Given the description of an element on the screen output the (x, y) to click on. 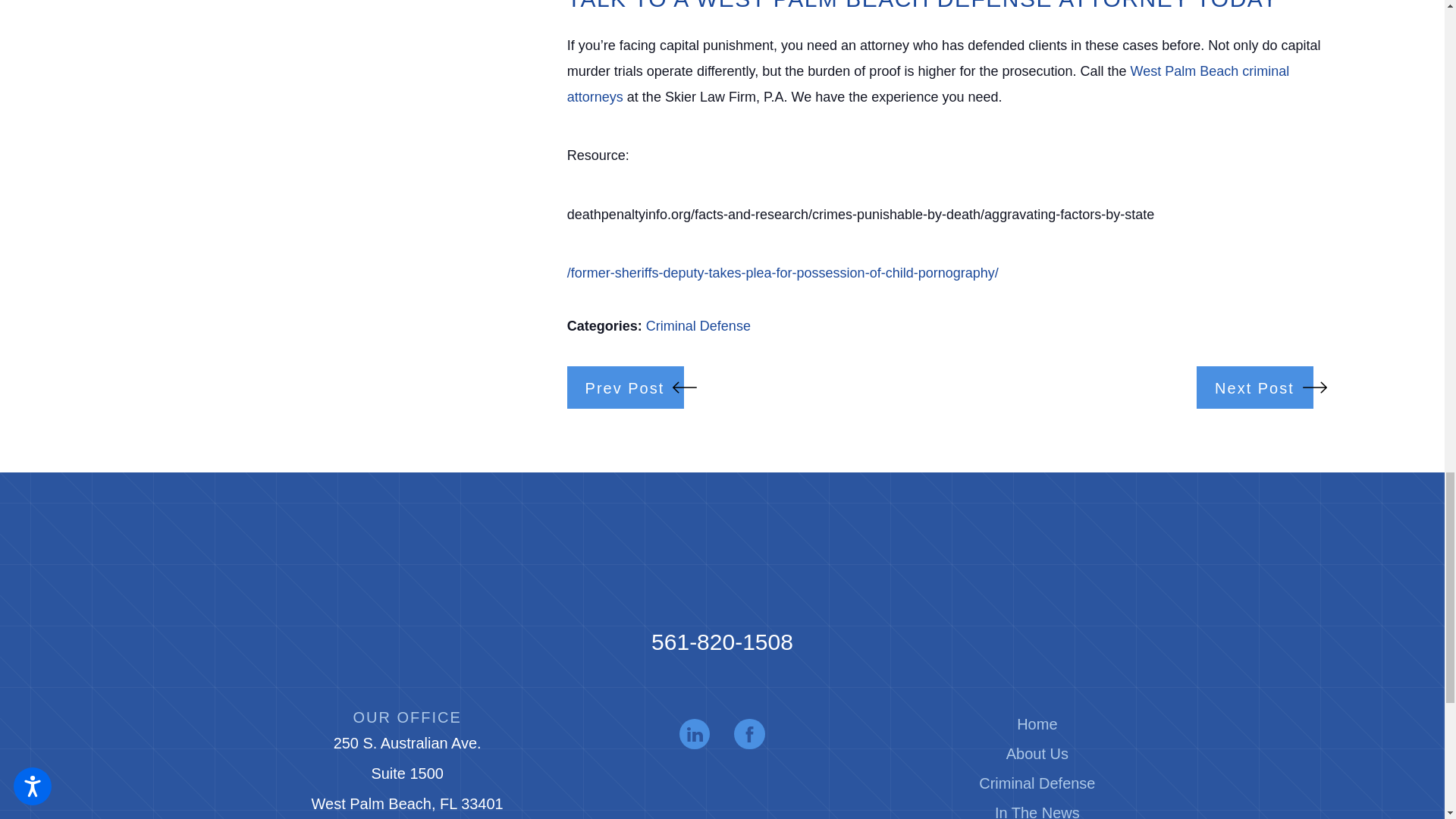
Facebook (748, 734)
LinkedIn (694, 734)
